Given the description of an element on the screen output the (x, y) to click on. 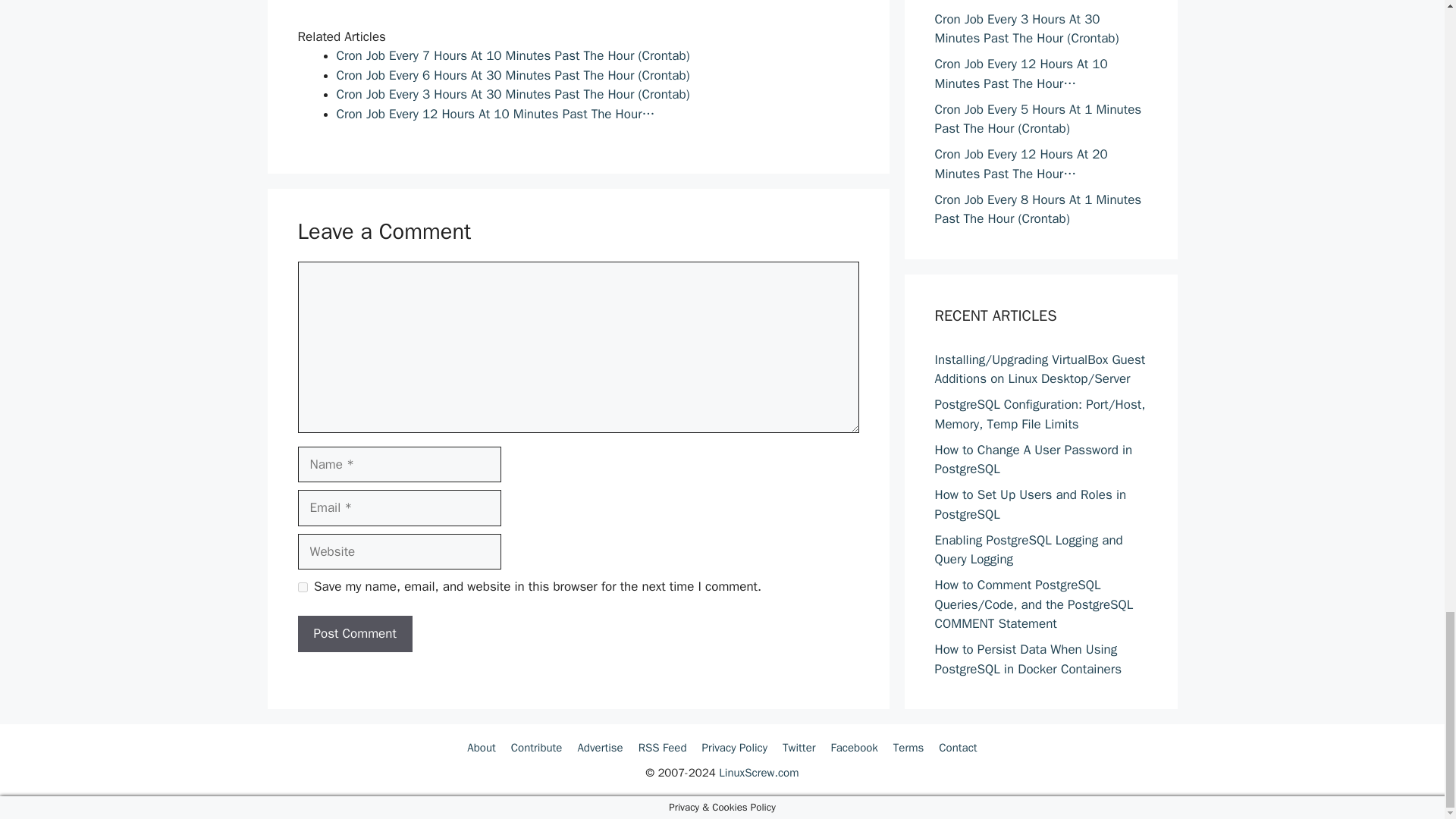
Post Comment (354, 633)
yes (302, 587)
